Given the description of an element on the screen output the (x, y) to click on. 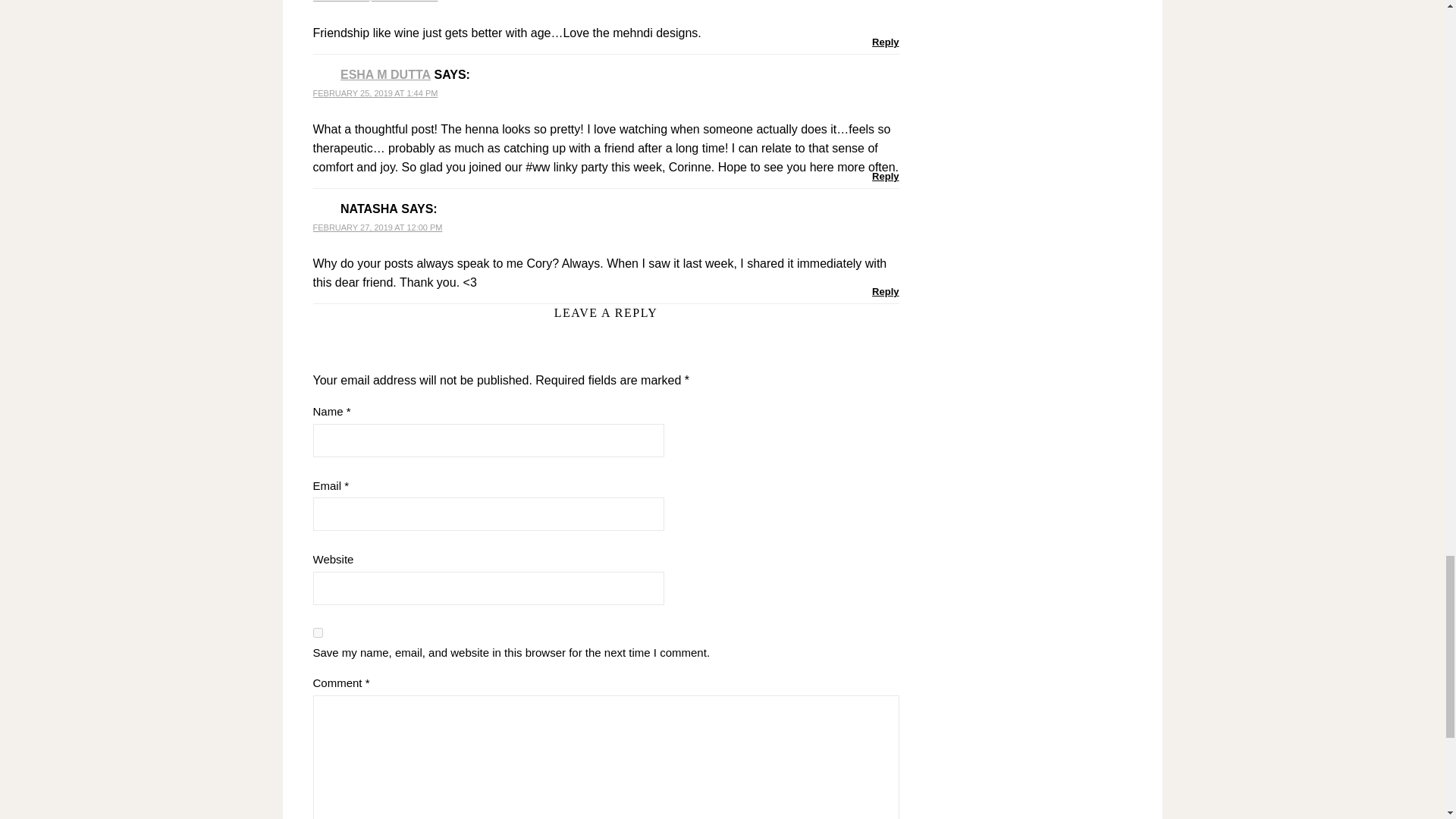
yes (317, 633)
